Given the description of an element on the screen output the (x, y) to click on. 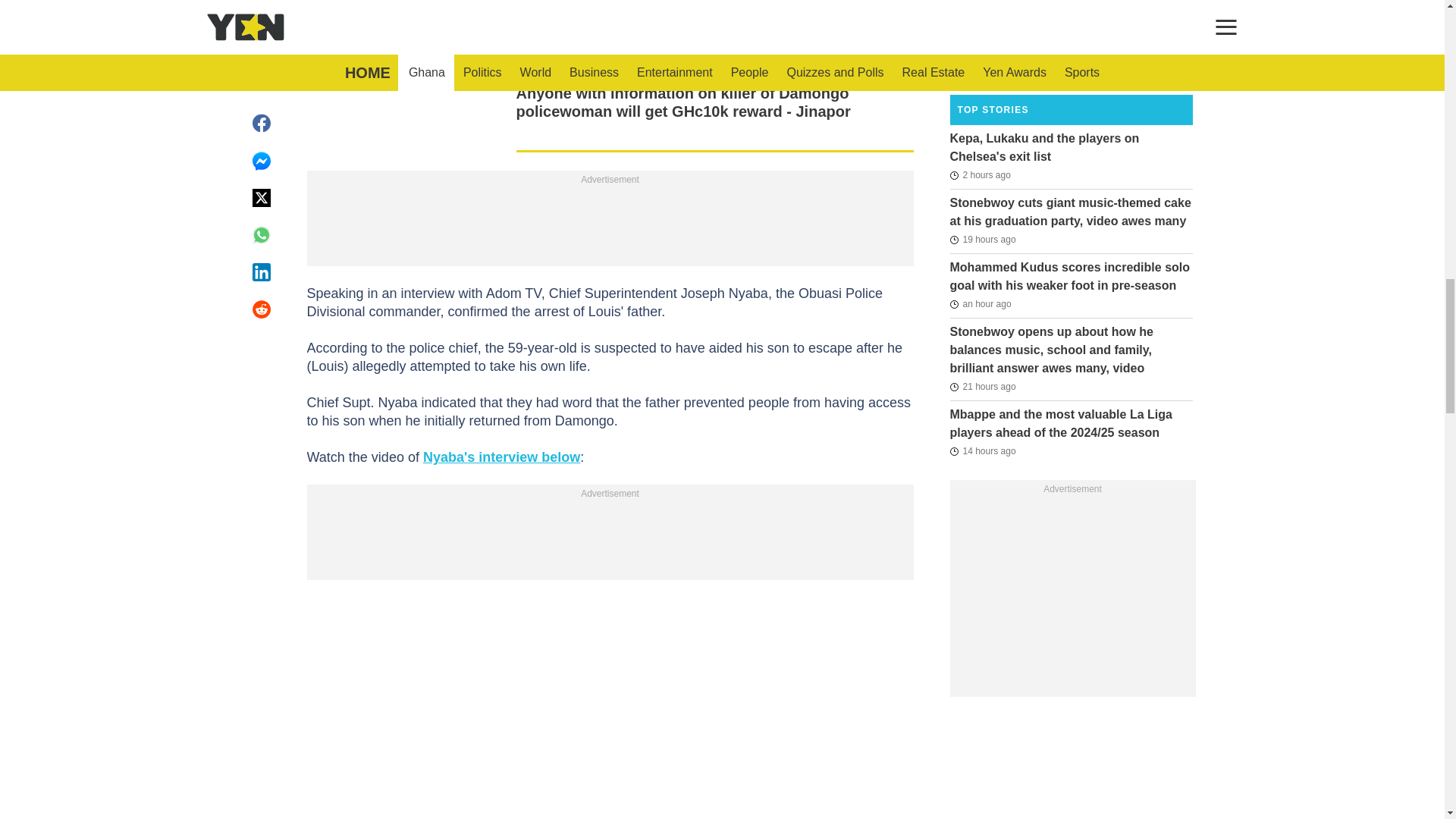
2024-07-28T07:45:49Z (979, 303)
2024-07-27T12:08:29Z (981, 386)
2024-07-27T19:01:12Z (981, 451)
2024-07-27T13:38:03Z (981, 239)
2024-07-28T07:00:16Z (979, 175)
2021-07-30T13:27:56Z (979, 65)
